Given the description of an element on the screen output the (x, y) to click on. 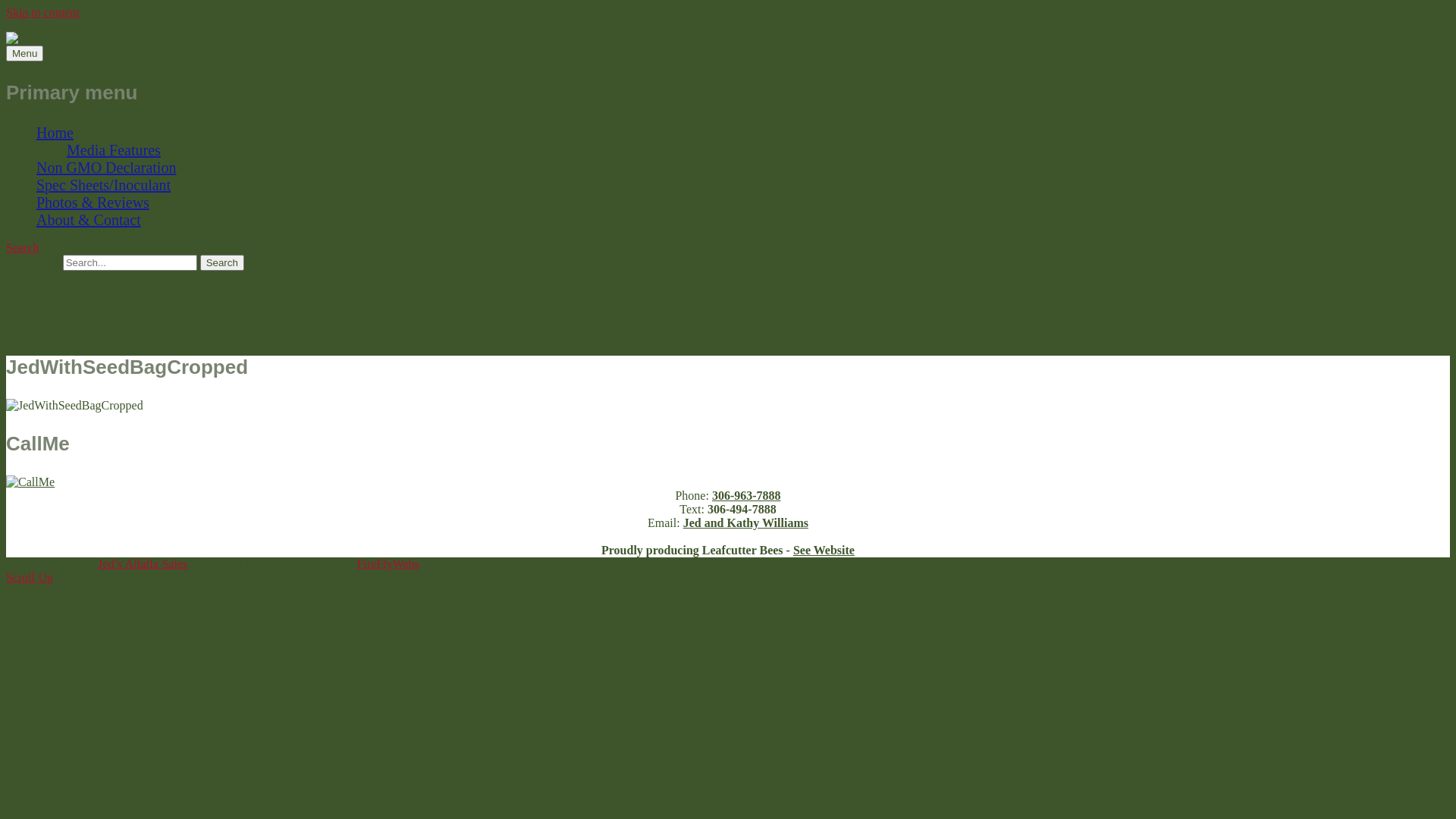
Menu Element type: text (24, 53)
Search Element type: text (222, 262)
Search Element type: text (22, 247)
Search for: Element type: hover (129, 262)
Home Element type: text (54, 132)
FireFlyWebs Element type: text (388, 563)
Photos & Reviews Element type: text (92, 202)
Non GMO Declaration Element type: text (105, 167)
Scroll Up Element type: text (29, 577)
Spec Sheets/Inoculant Element type: text (103, 184)
306-963-7888 Element type: text (746, 495)
See Website Element type: text (823, 549)
Media Features Element type: text (113, 149)
Skip to content Element type: text (42, 12)
tel:+13069637888 Element type: hover (30, 481)
Jed and Kathy Williams Element type: text (745, 522)
About & Contact Element type: text (88, 219)
